Given the description of an element on the screen output the (x, y) to click on. 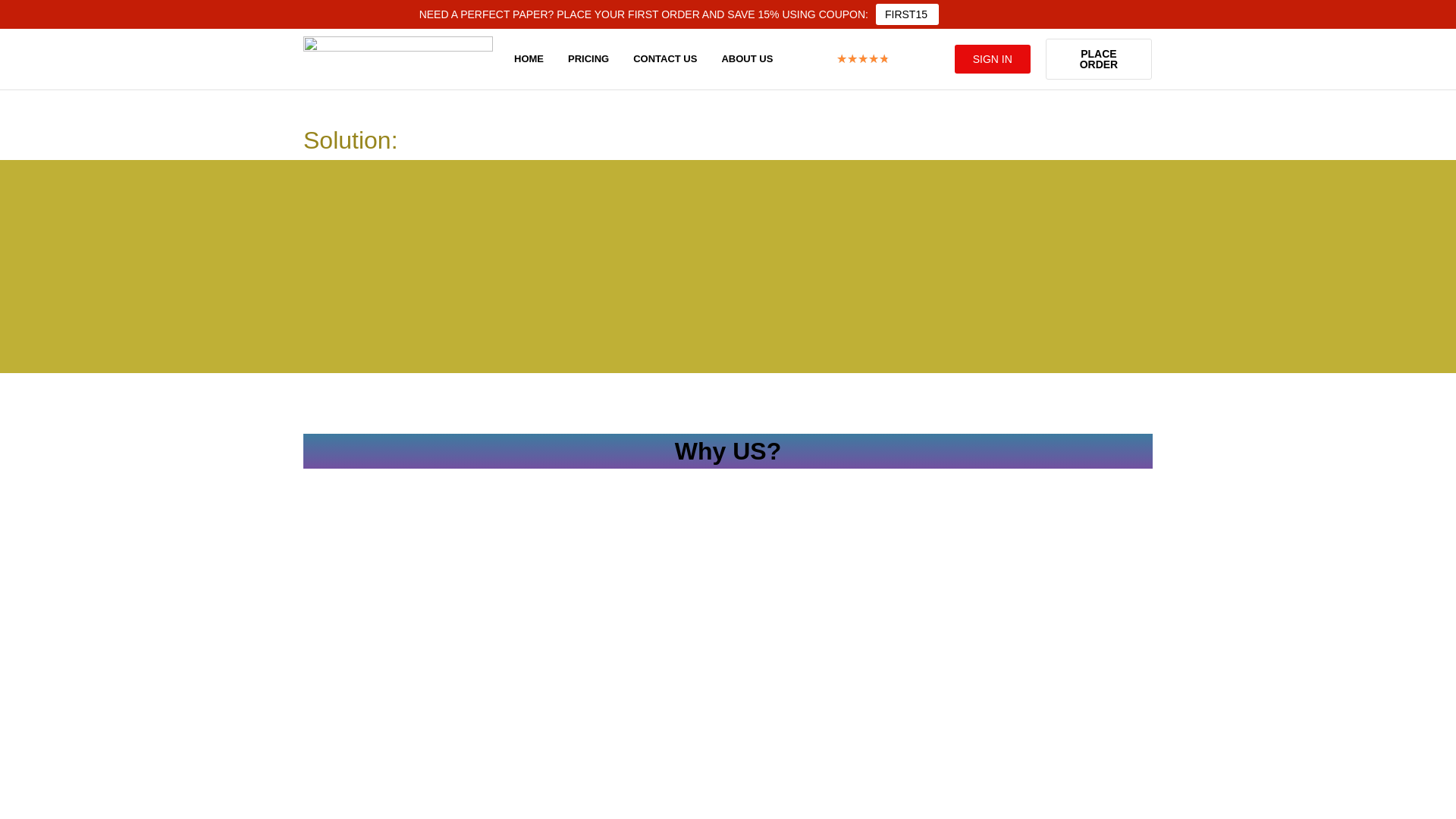
ABOUT US (746, 58)
CONTACT US (665, 58)
FIRST15 (907, 14)
PLACE ORDER (1098, 58)
SIGN IN (992, 59)
HOME (529, 58)
PRICING (588, 58)
